Given the description of an element on the screen output the (x, y) to click on. 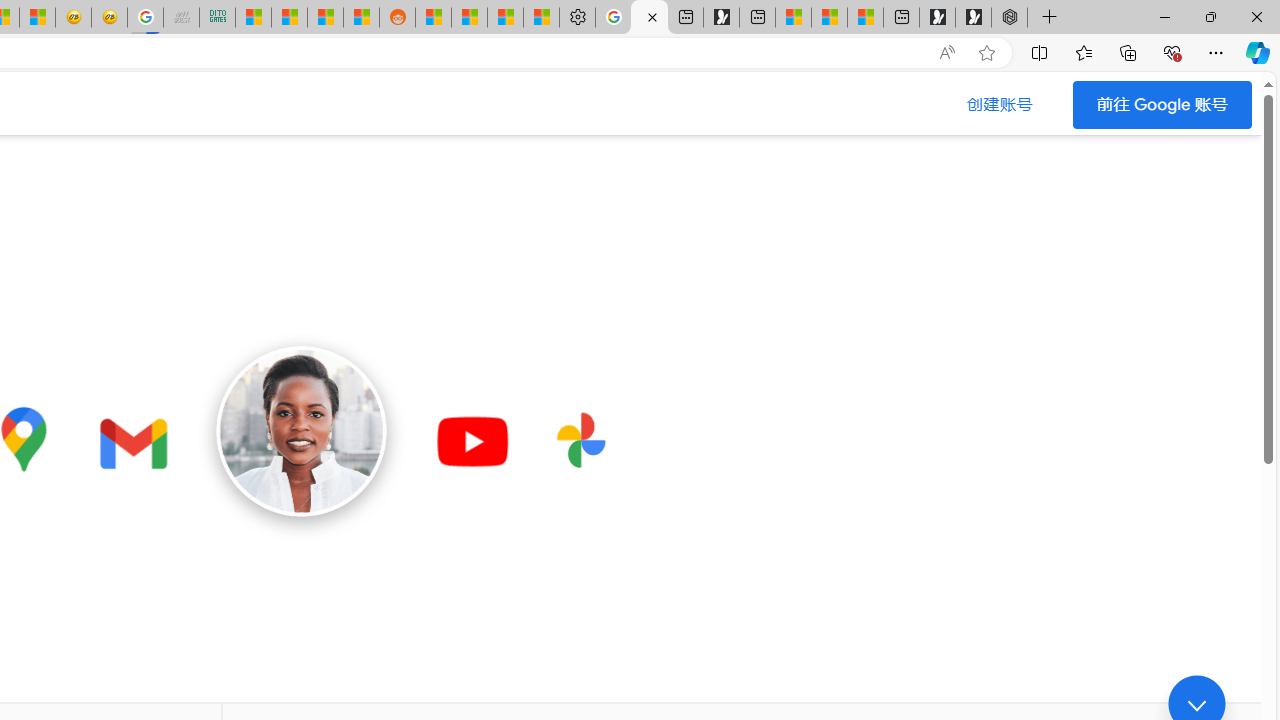
These 3 Stocks Pay You More Than 5% to Own Them (865, 17)
